Given the description of an element on the screen output the (x, y) to click on. 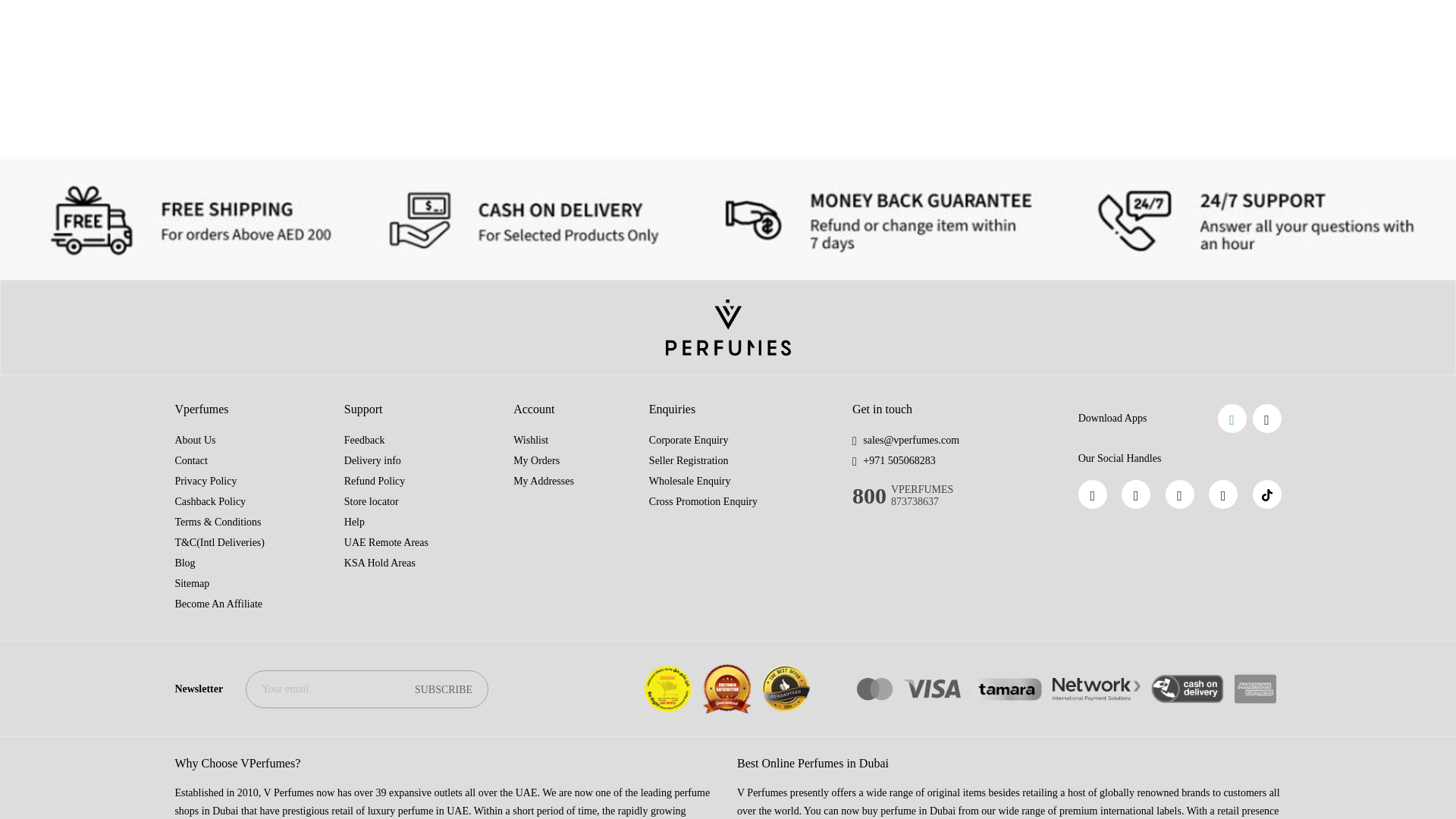
Folow us on Facebook (1092, 493)
Folow us on Instagram (1179, 493)
About Us (194, 439)
Folow us on Tiktok (1266, 493)
Contact (191, 460)
Folow us on Twitter (1222, 493)
Privacy Policy (204, 480)
Folow us on Whatsapp (1135, 493)
